Given the description of an element on the screen output the (x, y) to click on. 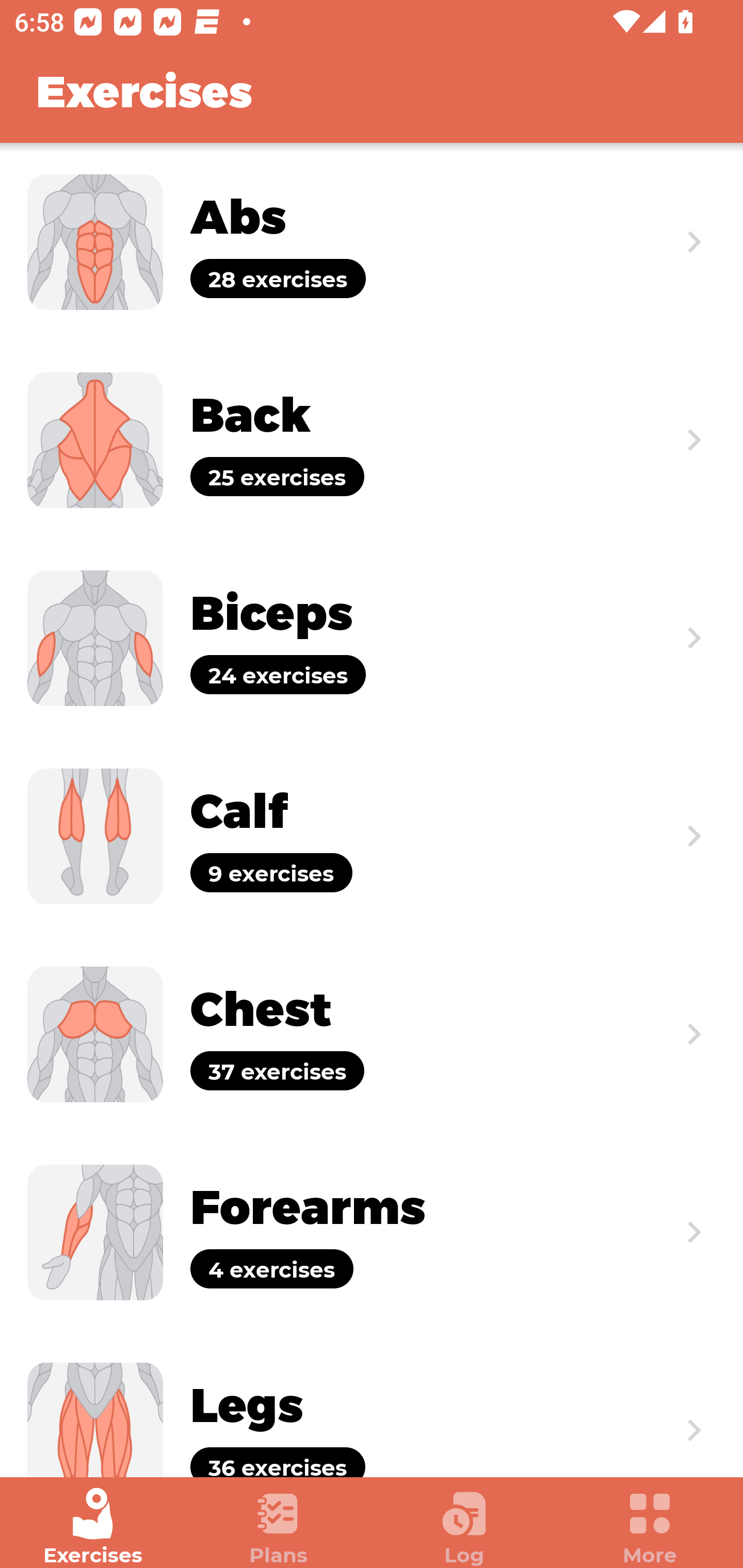
Exercise Abs 28 exercises (371, 241)
Exercise Back 25 exercises (371, 439)
Exercise Biceps 24 exercises (371, 637)
Exercise Calf 9 exercises (371, 836)
Exercise Chest 37 exercises (371, 1033)
Exercise Forearms 4 exercises (371, 1232)
Exercise Legs 36 exercises (371, 1404)
Exercises (92, 1527)
Plans (278, 1527)
Log (464, 1527)
More (650, 1527)
